Given the description of an element on the screen output the (x, y) to click on. 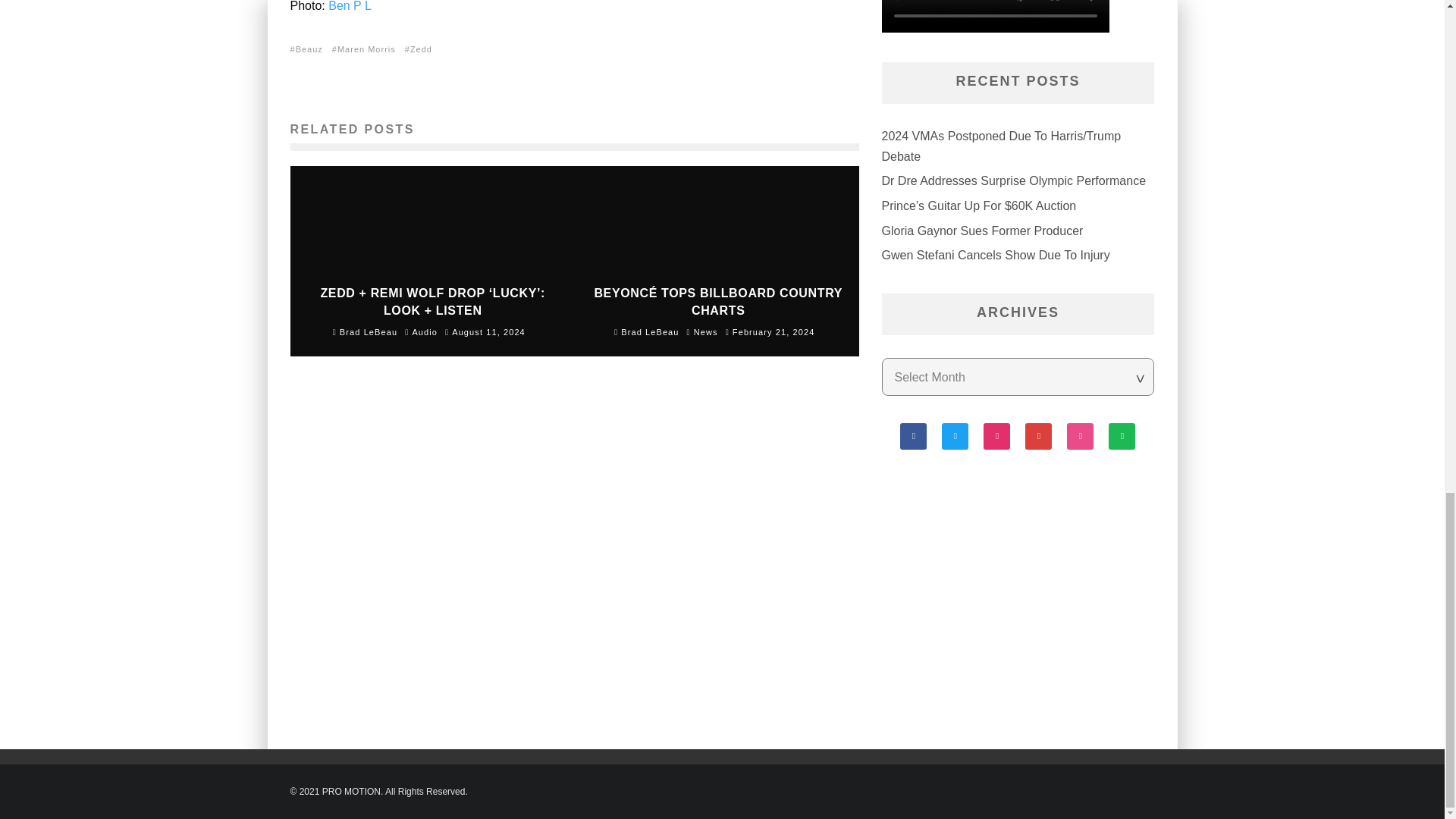
Brad LeBeau (646, 331)
Beauz (310, 49)
News (705, 331)
Brad LeBeau (365, 331)
Ben P L (350, 6)
Audio (425, 331)
Zedd (422, 49)
Maren Morris (367, 49)
